Given the description of an element on the screen output the (x, y) to click on. 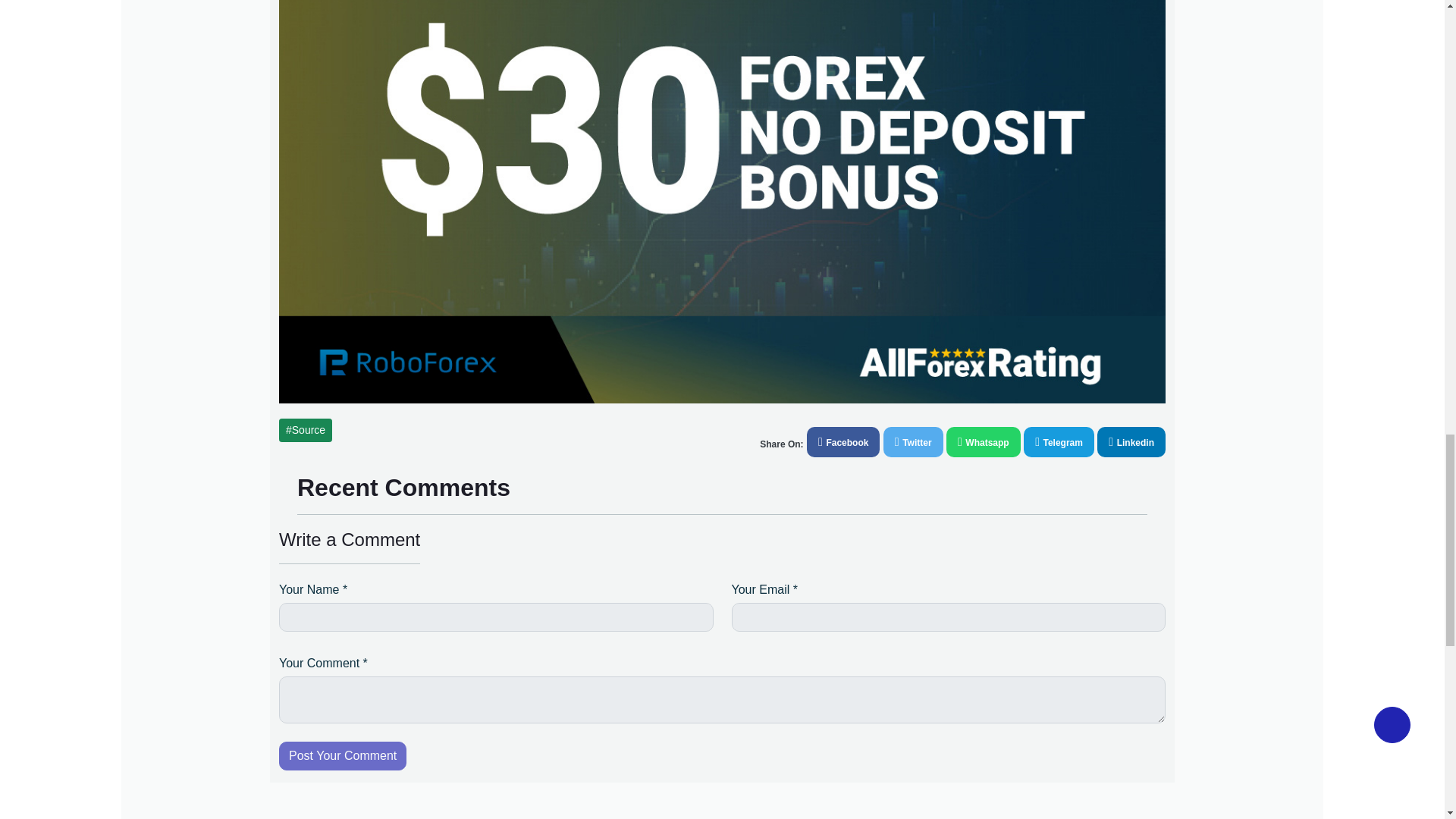
Post Your Comment (342, 756)
